Given the description of an element on the screen output the (x, y) to click on. 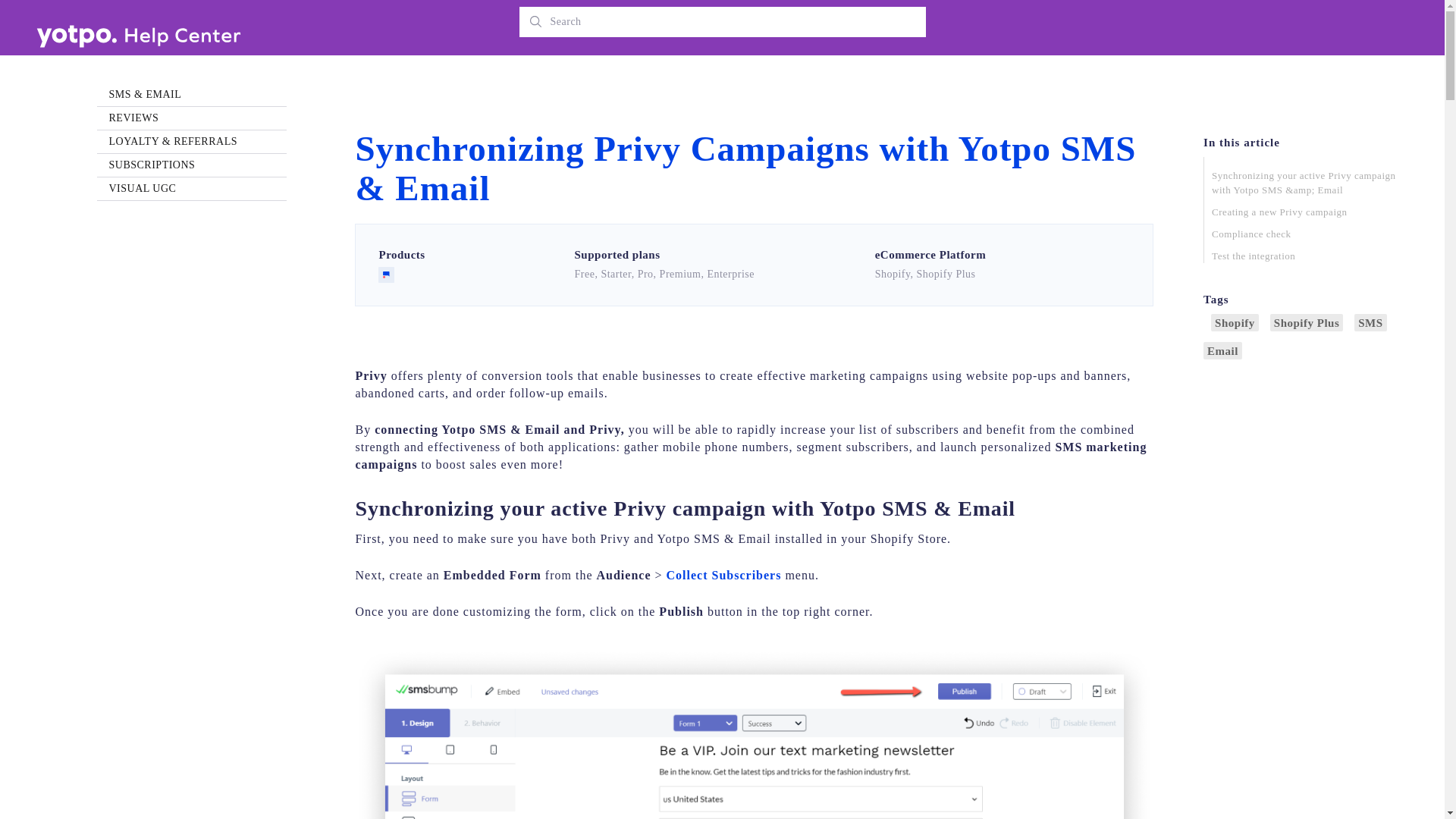
Shopify Plus (1305, 322)
REVIEWS (191, 118)
VISUAL UGC (191, 188)
SMS (1370, 322)
Test the integration (1303, 255)
Creating a new Privy campaign (1303, 211)
Shopify (1235, 322)
Collect Subscribers (723, 574)
Email (1222, 350)
SUBSCRIPTIONS (191, 164)
Compliance check (1303, 233)
